Given the description of an element on the screen output the (x, y) to click on. 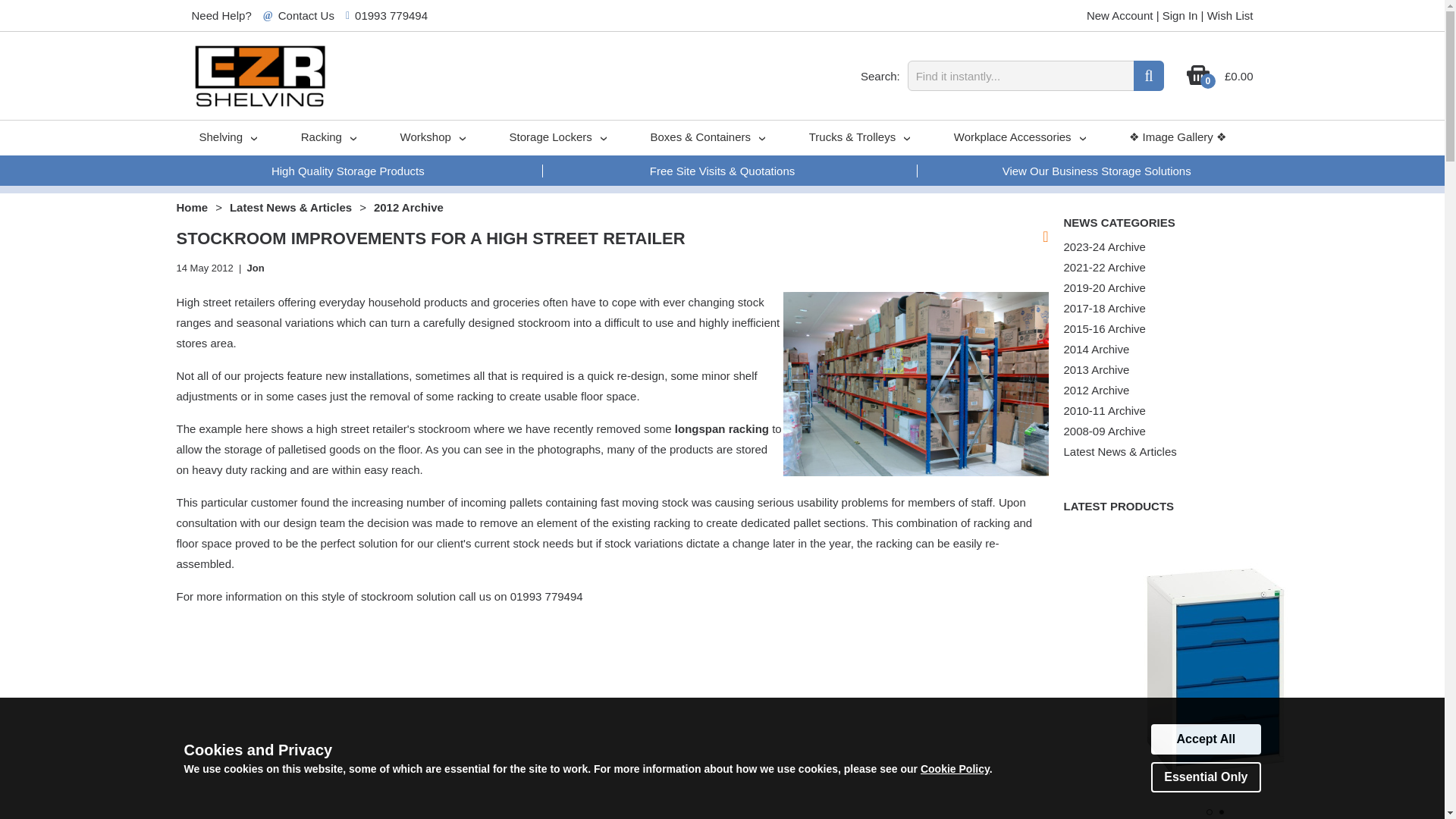
0 (1197, 82)
EZR Longspan racking used to store mixed retail goods (915, 383)
New Account (1119, 15)
Shelving (227, 137)
Go (1148, 75)
01993 779494 (391, 15)
Racking (327, 137)
Storage Lockers (556, 137)
Wish List (1230, 15)
Workshop (431, 137)
